Given the description of an element on the screen output the (x, y) to click on. 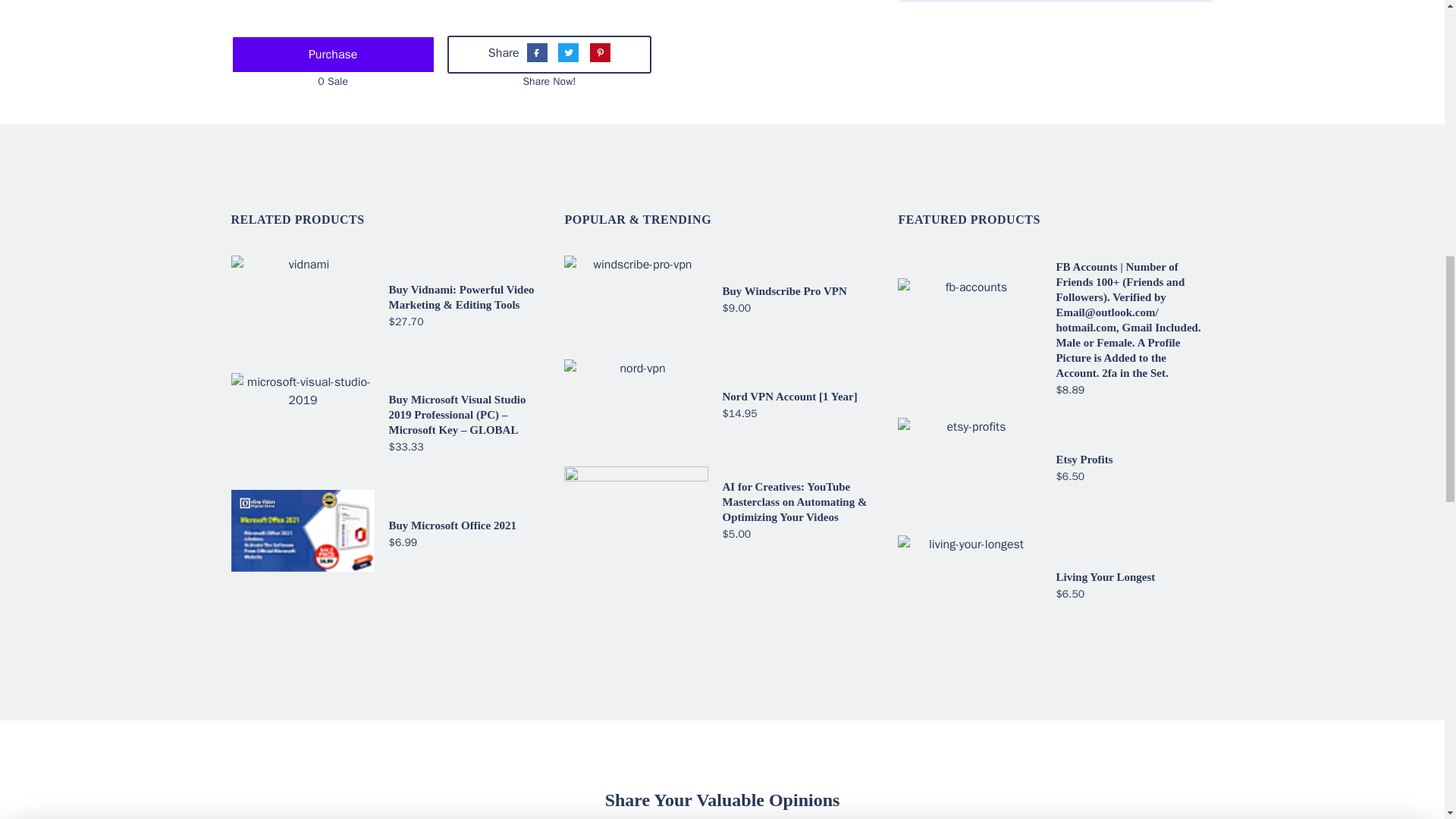
Purchase (331, 54)
